Given the description of an element on the screen output the (x, y) to click on. 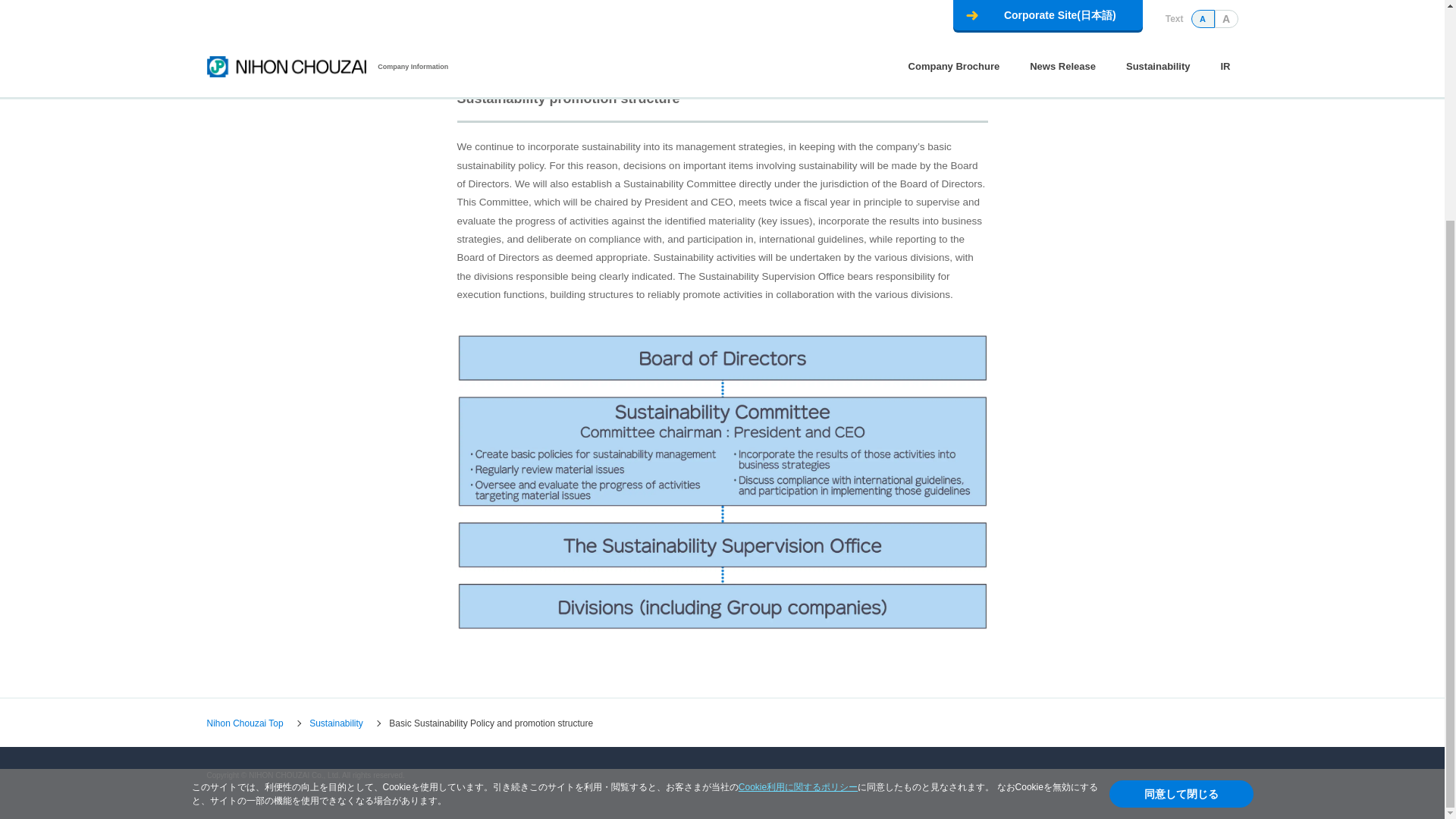
Sustainability (335, 723)
Nihon Chouzai Top (244, 723)
